Given the description of an element on the screen output the (x, y) to click on. 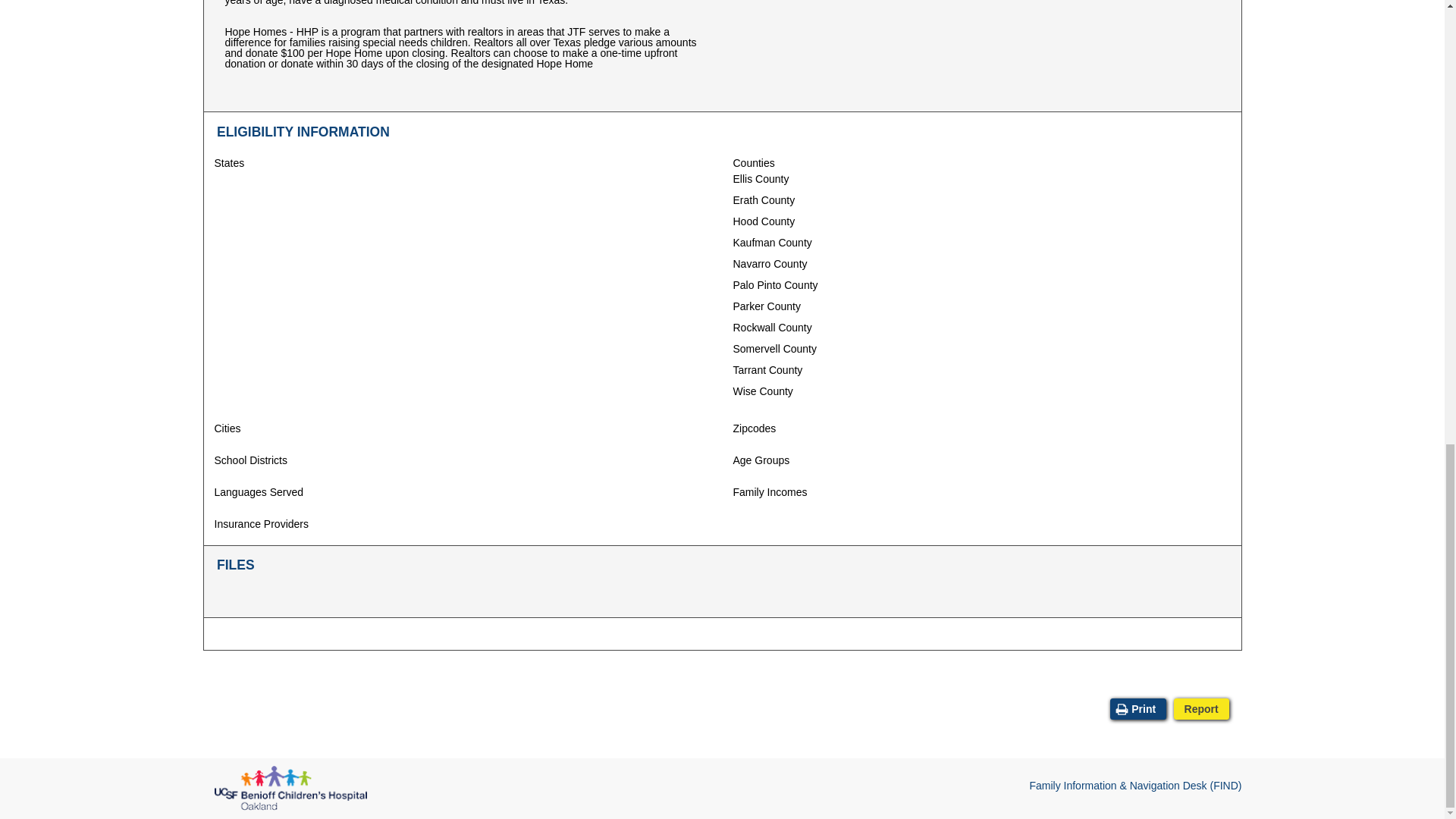
Report (1200, 708)
Print (1137, 708)
